Given the description of an element on the screen output the (x, y) to click on. 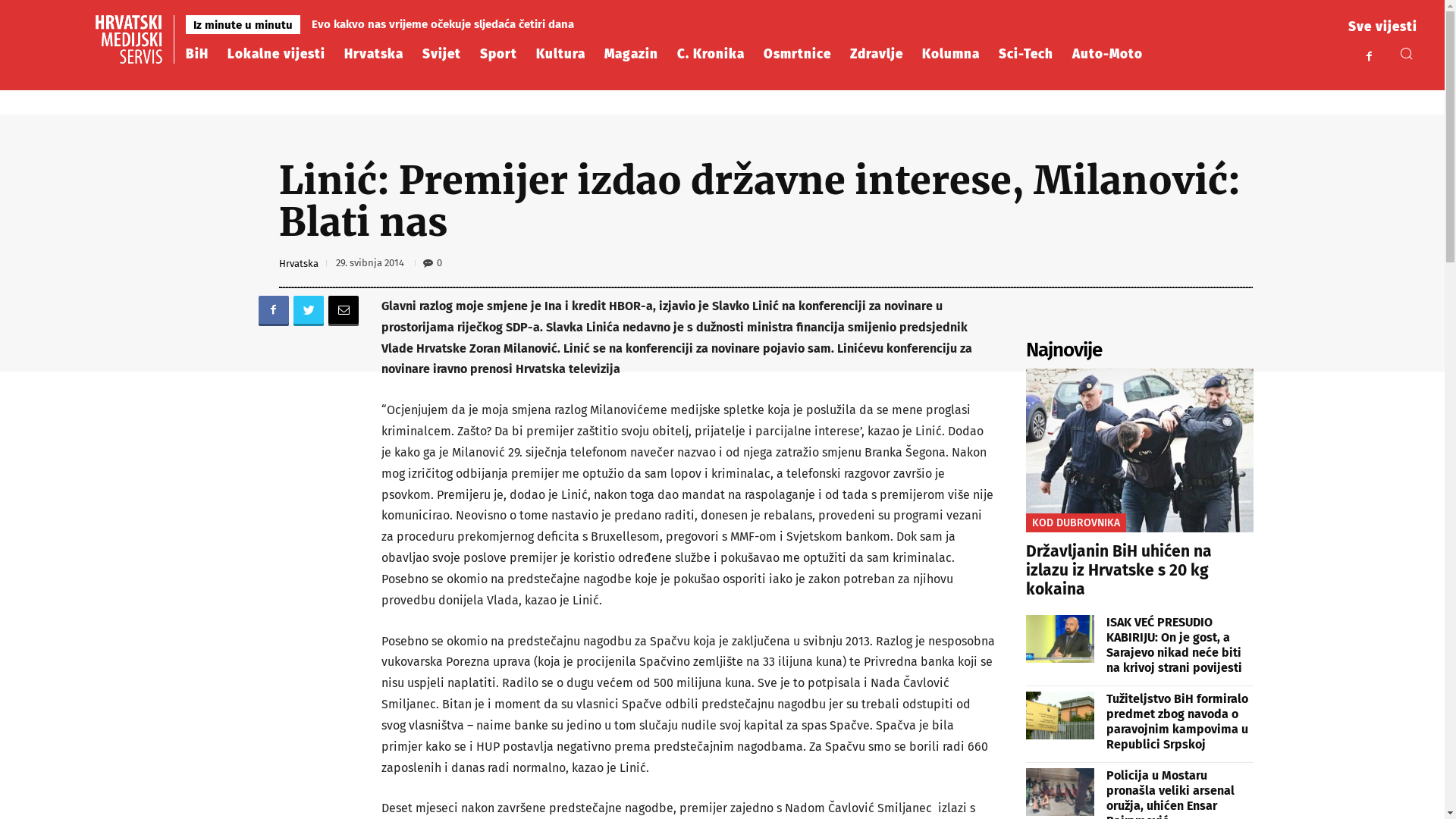
0 Element type: text (432, 261)
Hrvatska Element type: text (298, 263)
Sve vijesti Element type: text (1382, 25)
